Given the description of an element on the screen output the (x, y) to click on. 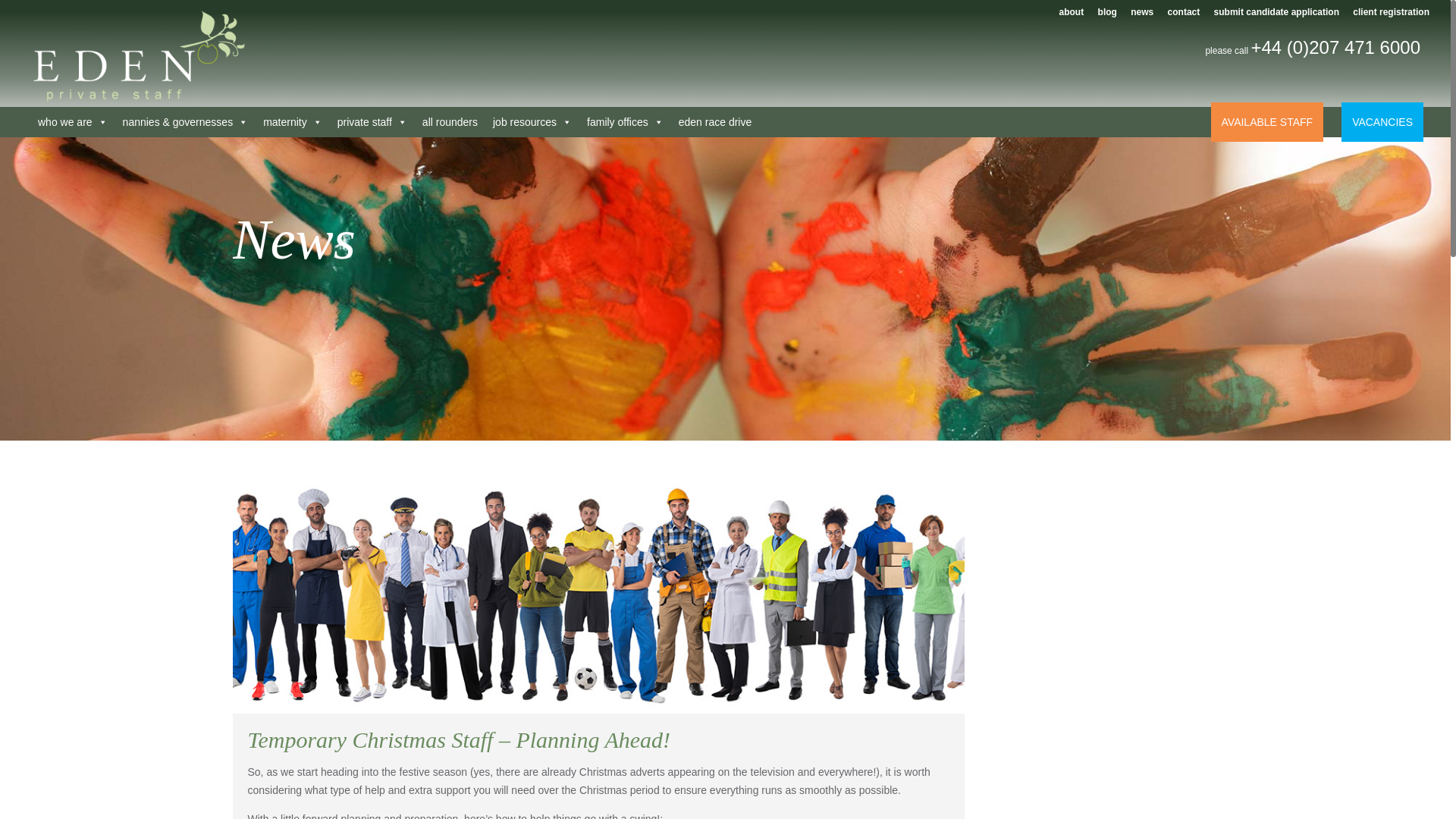
submit candidate application (1276, 15)
news (1142, 15)
about (1071, 15)
contact (1183, 15)
who we are (72, 122)
client registration (1390, 15)
blog (1106, 15)
maternity (293, 122)
